Given the description of an element on the screen output the (x, y) to click on. 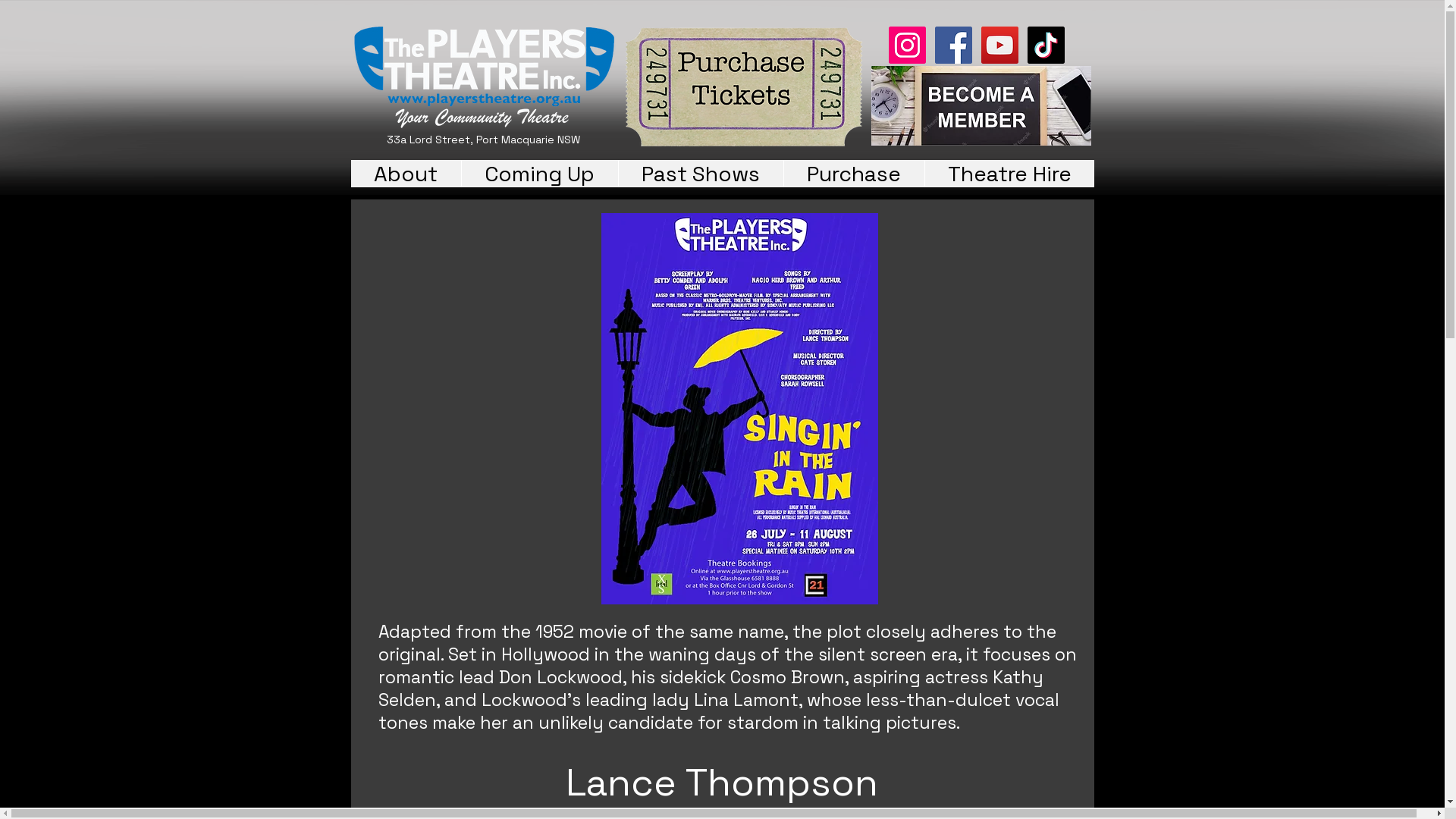
Theatre Hire Element type: text (1008, 173)
